Given the description of an element on the screen output the (x, y) to click on. 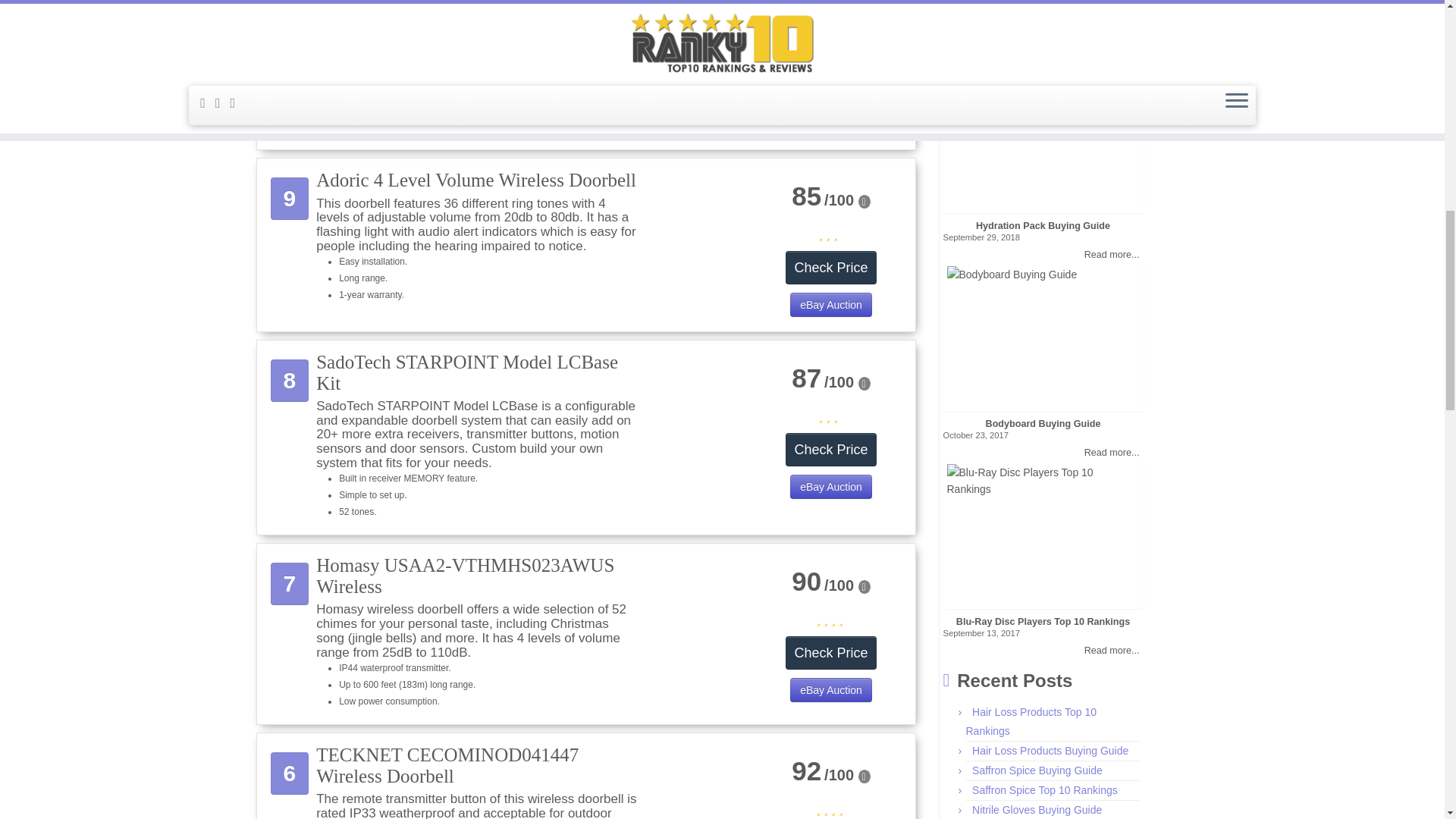
eBay Auction (837, 124)
eBay Auction (838, 488)
Check Price (834, 276)
Check Price (833, 94)
eBay Auction (838, 692)
eBay Auction (838, 306)
Check Price (834, 662)
Check Price (834, 459)
